Given the description of an element on the screen output the (x, y) to click on. 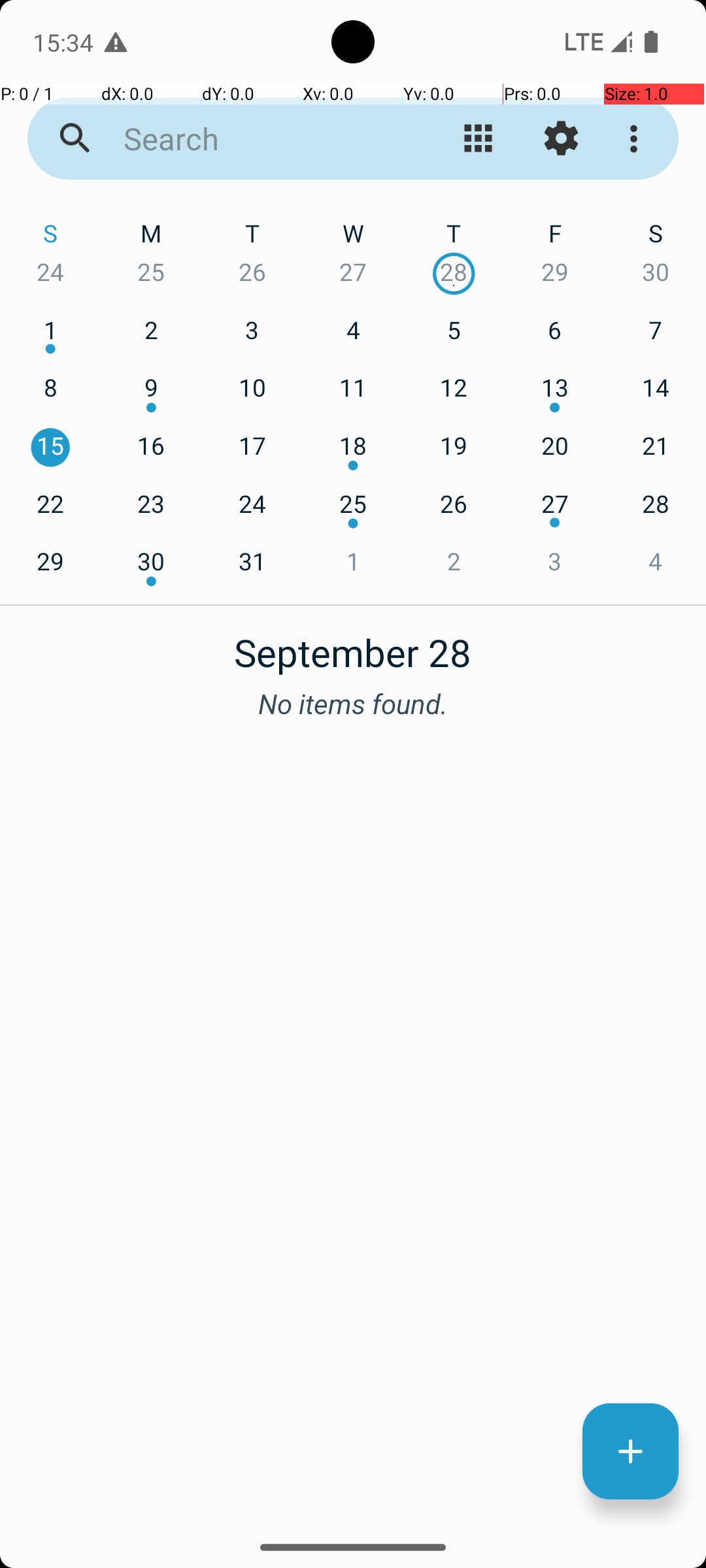
September 28 Element type: android.widget.TextView (352, 644)
